Given the description of an element on the screen output the (x, y) to click on. 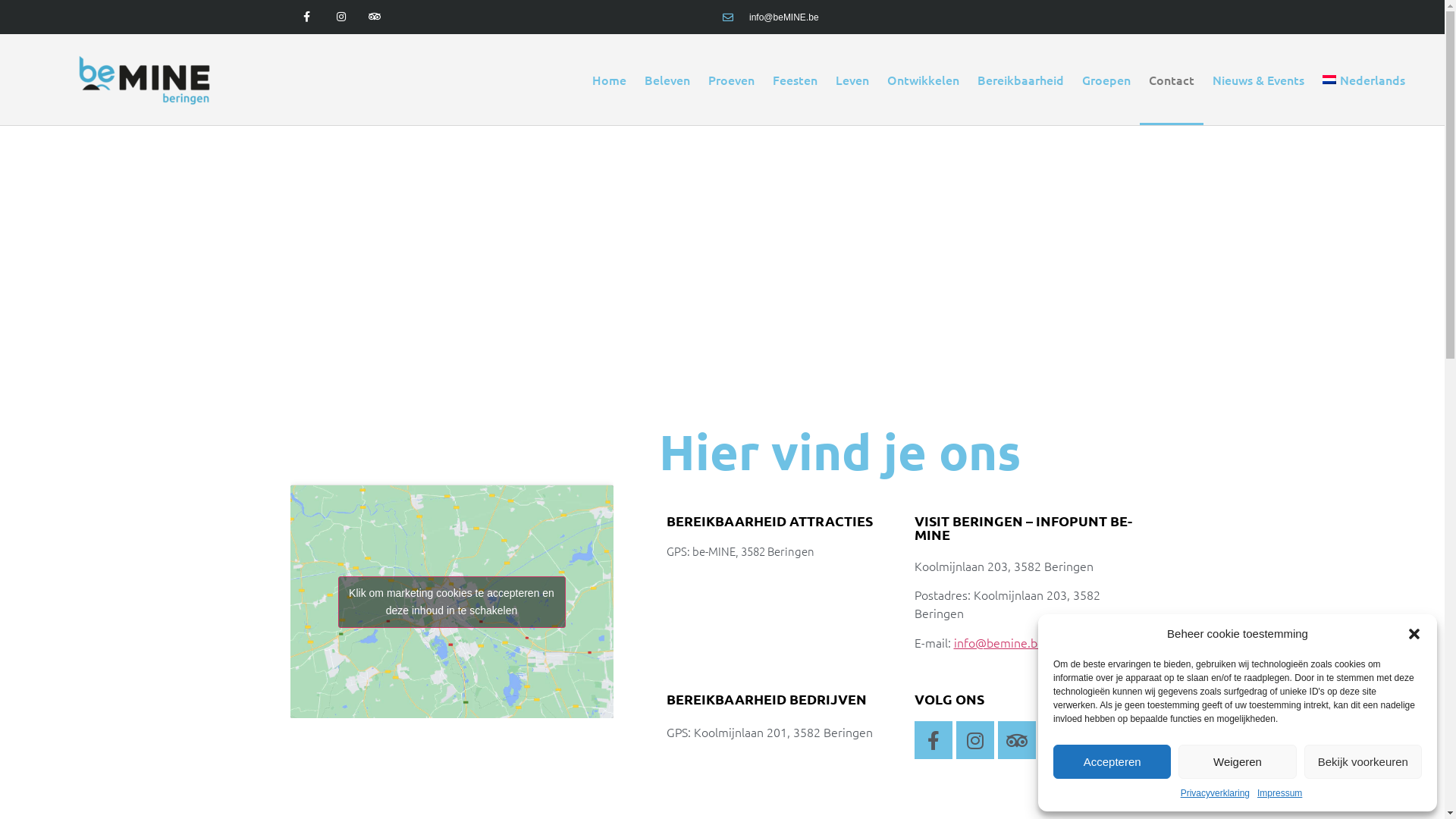
info@beMINE.be Element type: text (769, 17)
Bekijk voorkeuren Element type: text (1362, 761)
info@bemine.be Element type: text (998, 641)
Proeven Element type: text (731, 79)
Groepen Element type: text (1106, 79)
Beleven Element type: text (667, 79)
Weigeren Element type: text (1236, 761)
Contact Element type: text (1171, 79)
Impressum Element type: text (1279, 793)
Privacyverklaring Element type: text (1214, 793)
Feesten Element type: text (794, 79)
Home Element type: text (609, 79)
Ontwikkelen Element type: text (923, 79)
Leven Element type: text (852, 79)
Accepteren Element type: text (1111, 761)
Nieuws & Events Element type: text (1258, 79)
Bereikbaarheid Element type: text (1020, 79)
Nederlands Element type: text (1363, 79)
